Given the description of an element on the screen output the (x, y) to click on. 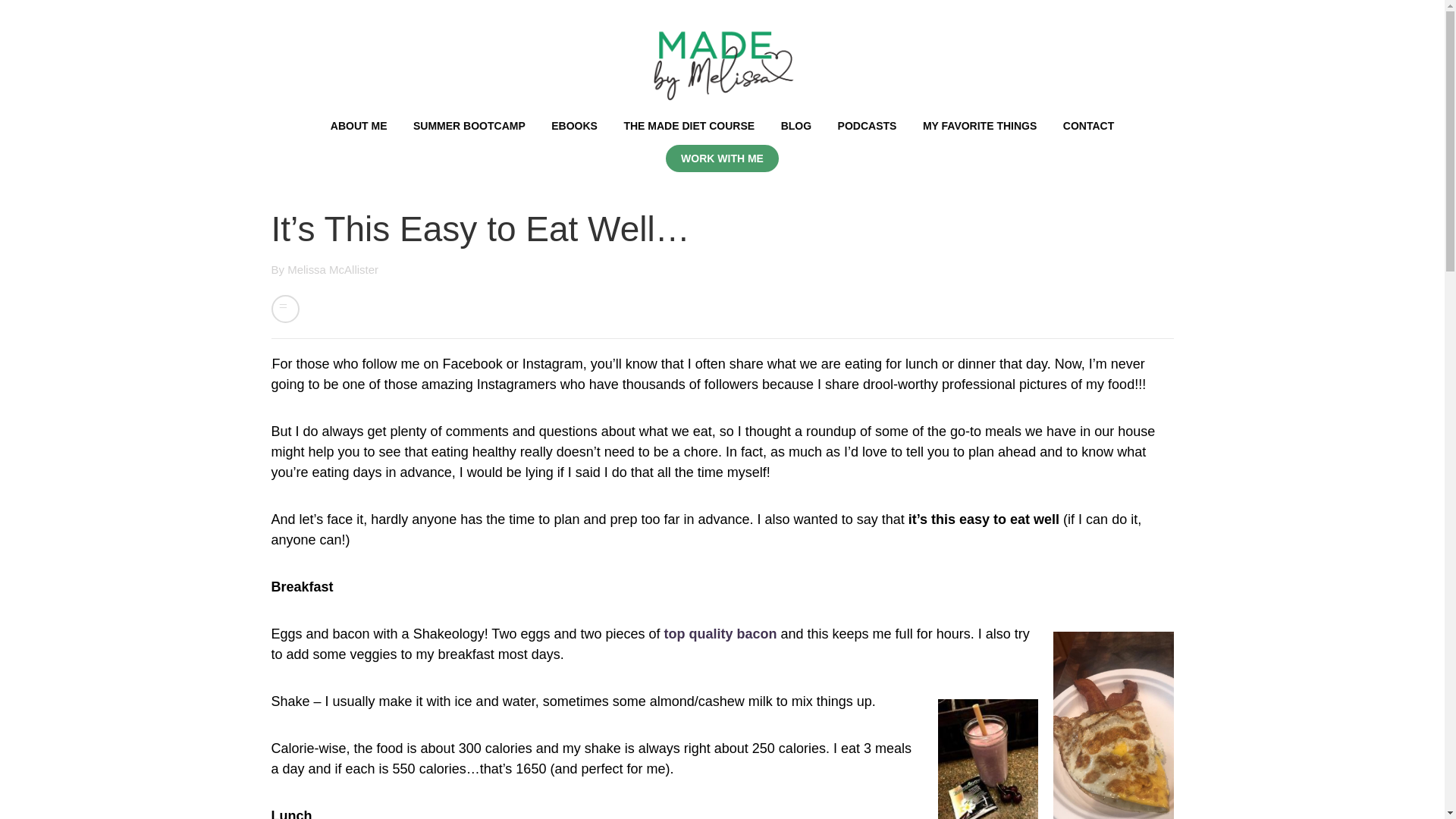
THE MADE DIET COURSE (688, 125)
top quality bacon (720, 633)
MY FAVORITE THINGS (979, 125)
WORK WITH ME (721, 158)
BLOG (795, 125)
SUMMER BOOTCAMP (469, 125)
PODCASTS (867, 125)
Melissa McAllister (332, 269)
ABOUT ME (358, 125)
EBOOKS (573, 125)
